Given the description of an element on the screen output the (x, y) to click on. 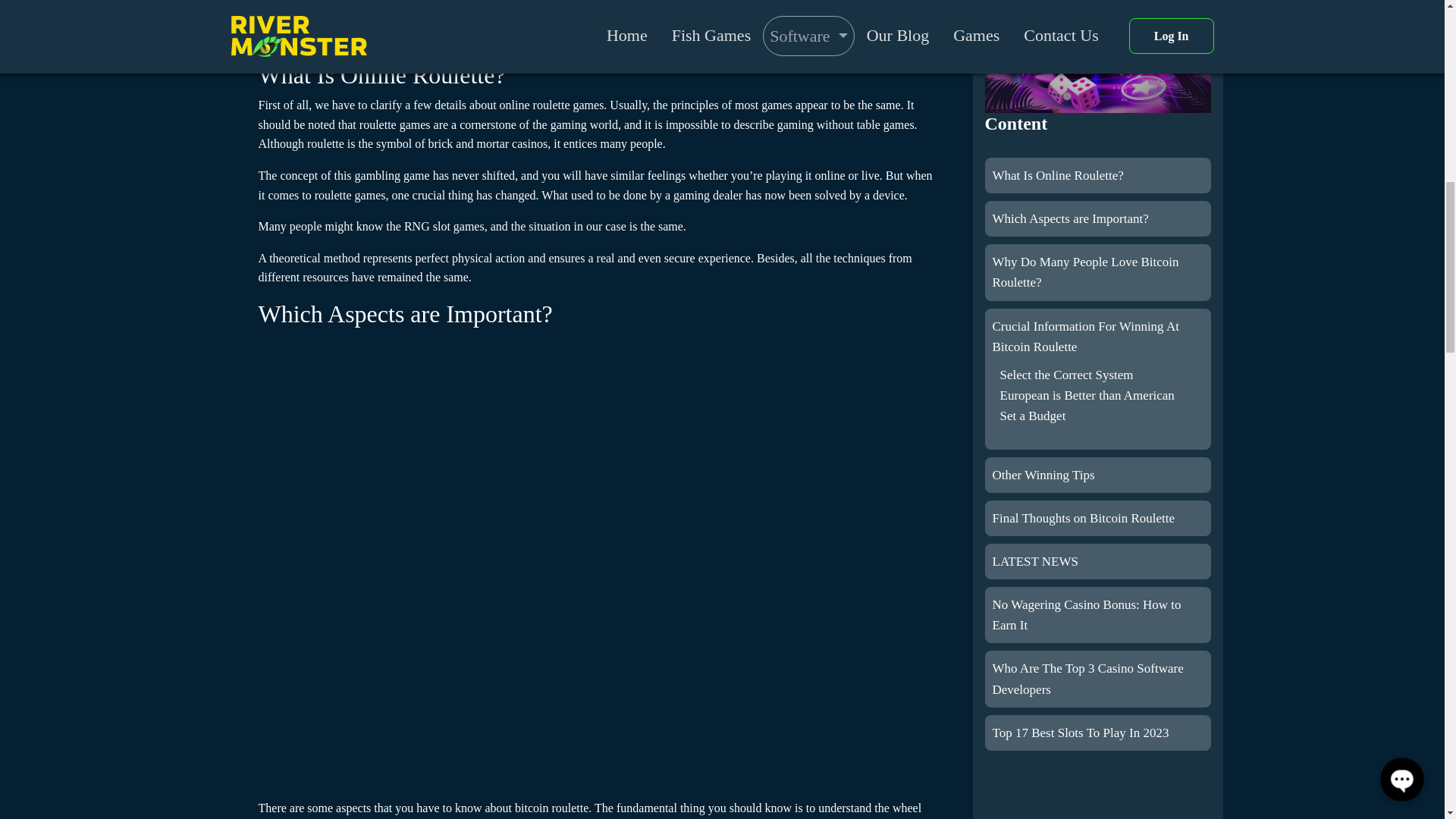
LATEST NEWS (1034, 561)
European is Better than American (1085, 395)
What Is Online Roulette? (1056, 175)
Set a Budget (1031, 415)
Select the Correct System (1065, 374)
No Wagering Casino Bonus: How to Earn It (1085, 614)
Crucial Information For Winning At Bitcoin Roulette (1084, 336)
Why Do Many People Love Bitcoin Roulette? (1084, 271)
Top 17 Best Slots To Play In 2023 (1080, 732)
Who Are The Top 3 Casino Software Developers (1086, 678)
Which Aspects are Important? (1069, 218)
Final Thoughts on Bitcoin Roulette (1082, 518)
Other Winning Tips (1042, 474)
